Given the description of an element on the screen output the (x, y) to click on. 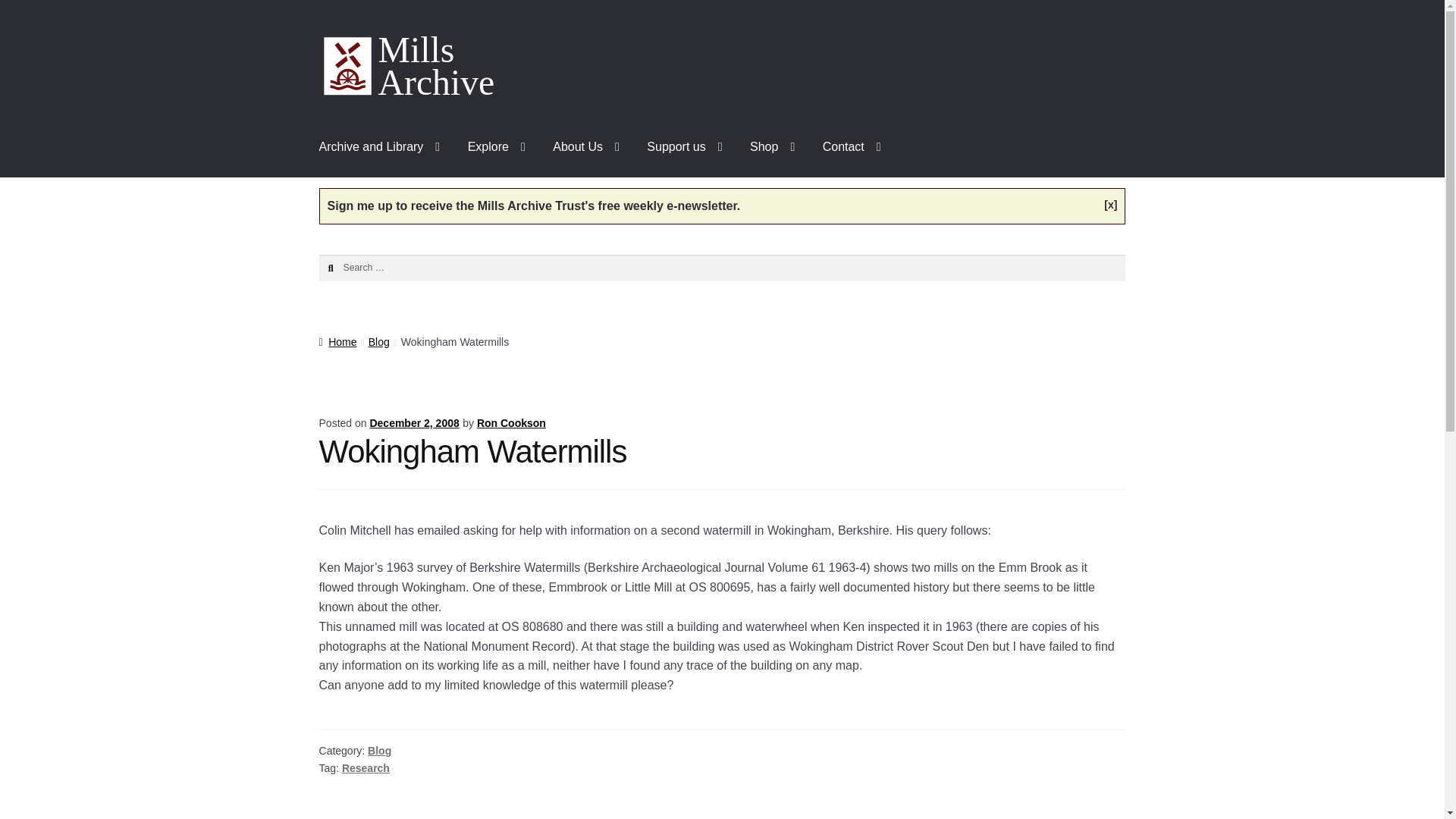
Explore (496, 146)
Archive and Library (379, 146)
